Given the description of an element on the screen output the (x, y) to click on. 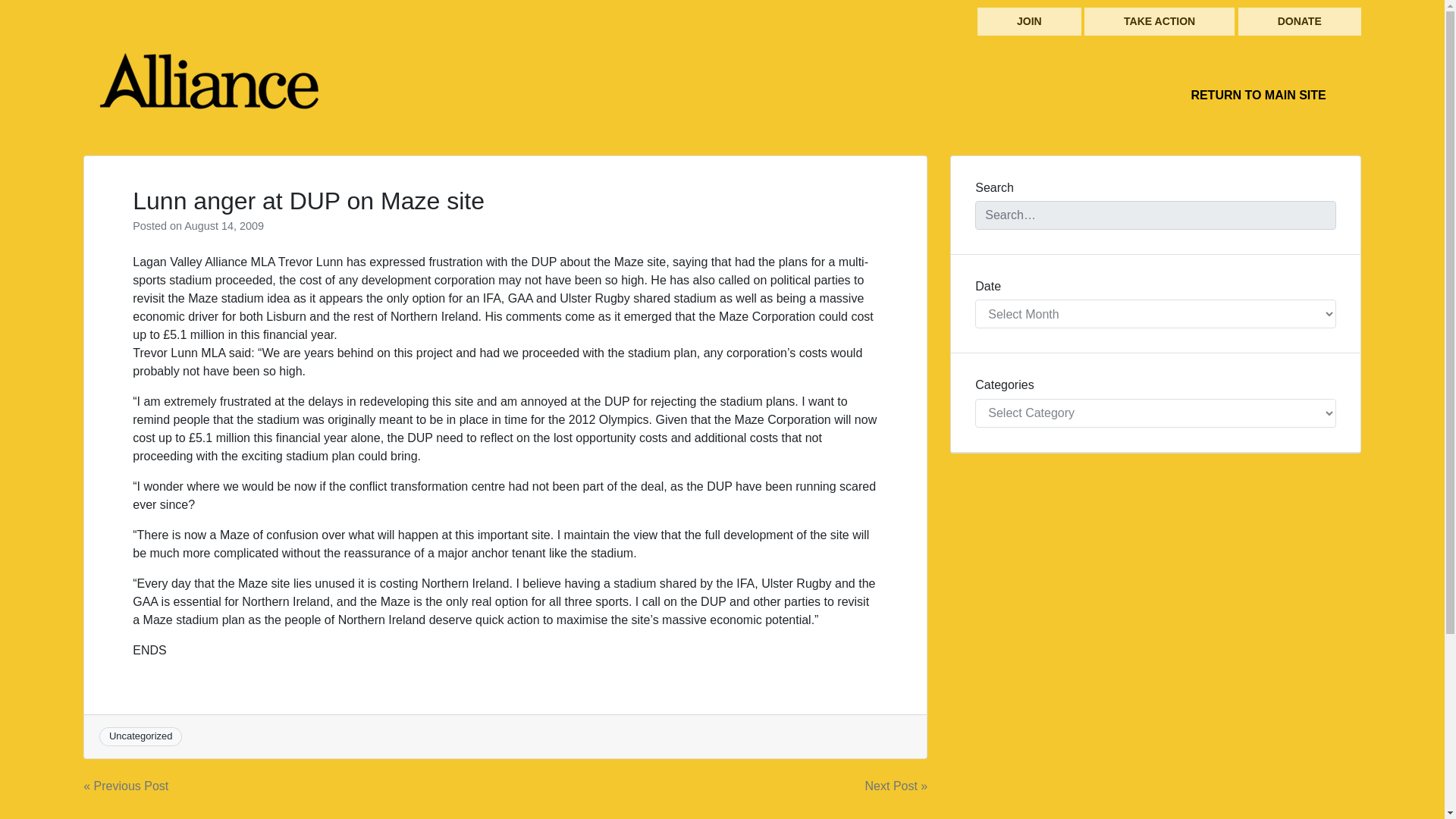
August 14, 2009 (223, 225)
JOIN (1028, 21)
TAKE ACTION (1159, 21)
DONATE (1300, 21)
RETURN TO MAIN SITE (1257, 95)
